Given the description of an element on the screen output the (x, y) to click on. 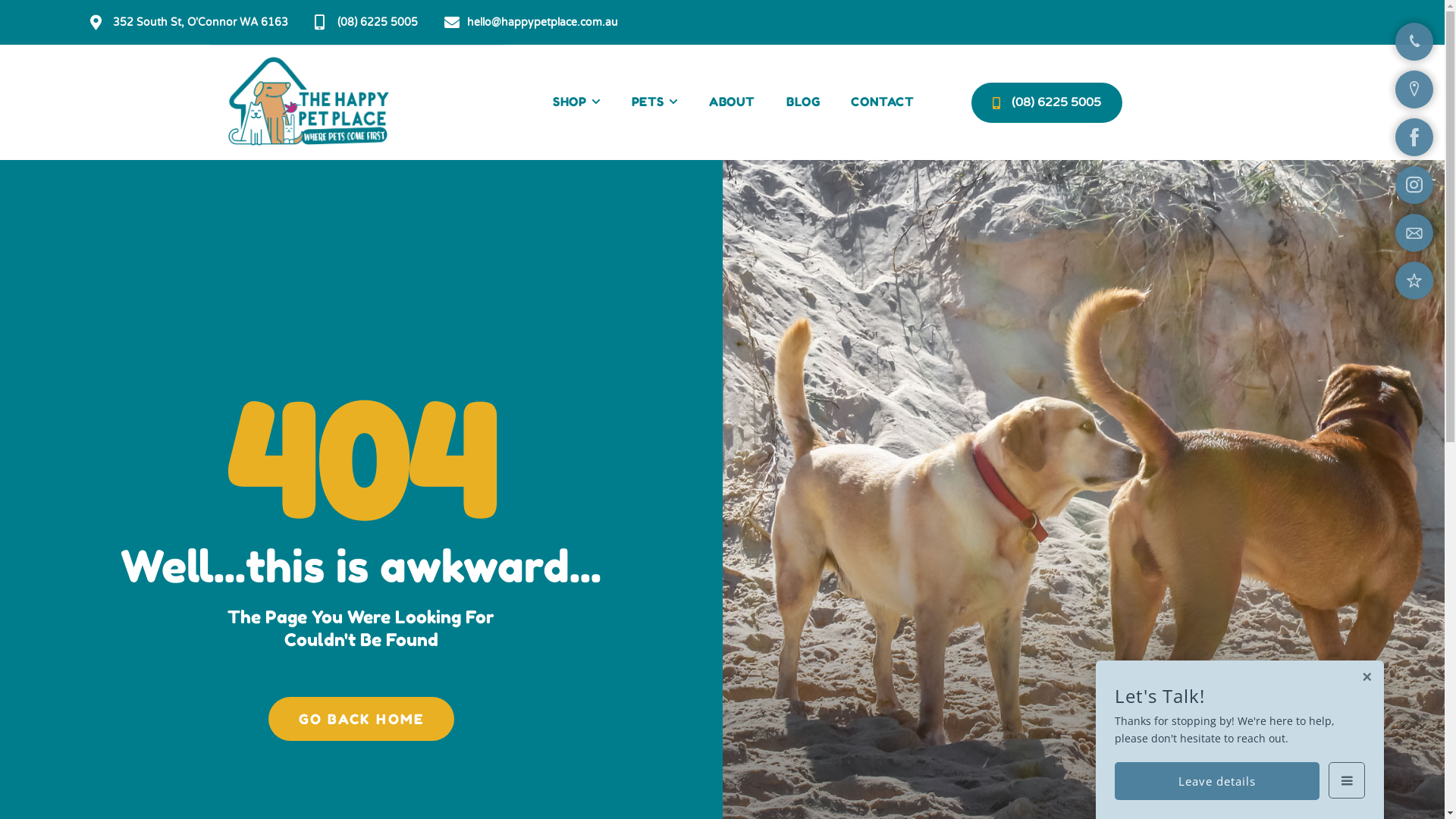
GO BACK HOME Element type: text (361, 718)
(08) 6225 5005 Element type: text (1046, 102)
Leave details Element type: text (1216, 781)
BLOG Element type: text (802, 102)
CONTACT Element type: text (881, 102)
SHOP Element type: text (575, 102)
PETS Element type: text (654, 102)
ABOUT Element type: text (732, 102)
